Given the description of an element on the screen output the (x, y) to click on. 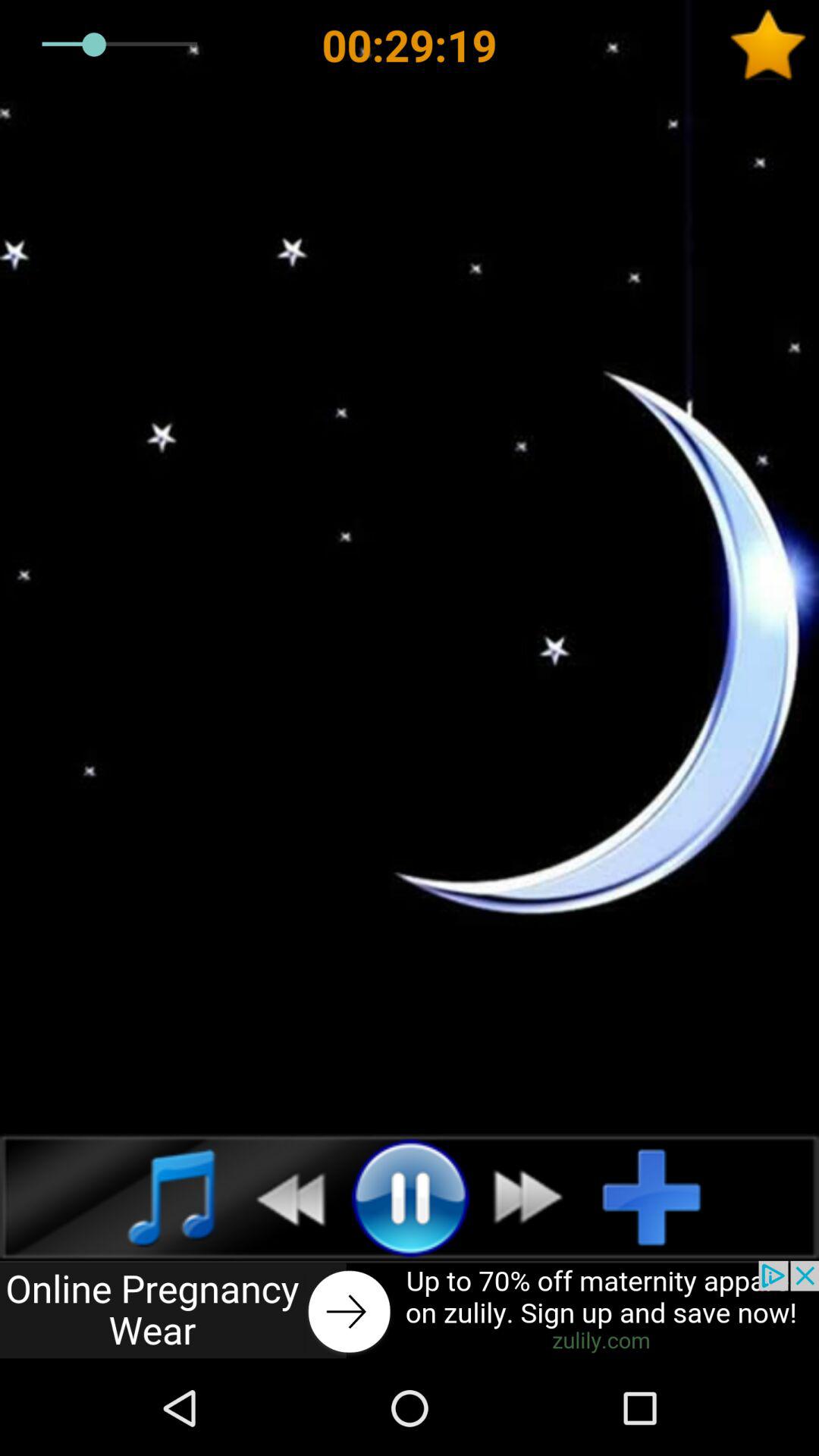
to goto previous song or music in the list (281, 1196)
